Given the description of an element on the screen output the (x, y) to click on. 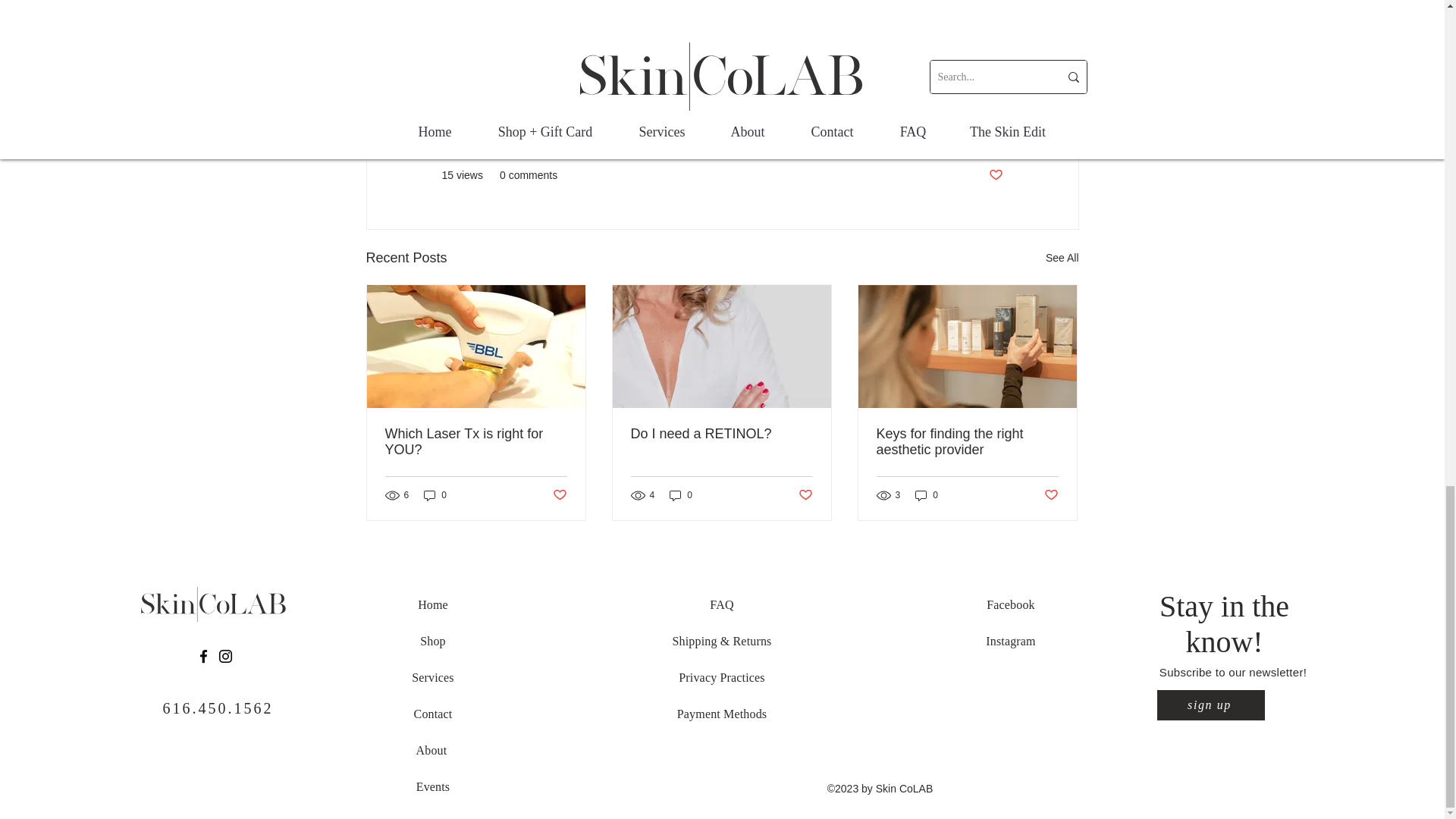
skincare routine (639, 72)
skin care products (826, 72)
skin care (472, 72)
new patient (730, 72)
consultation (548, 72)
